Given the description of an element on the screen output the (x, y) to click on. 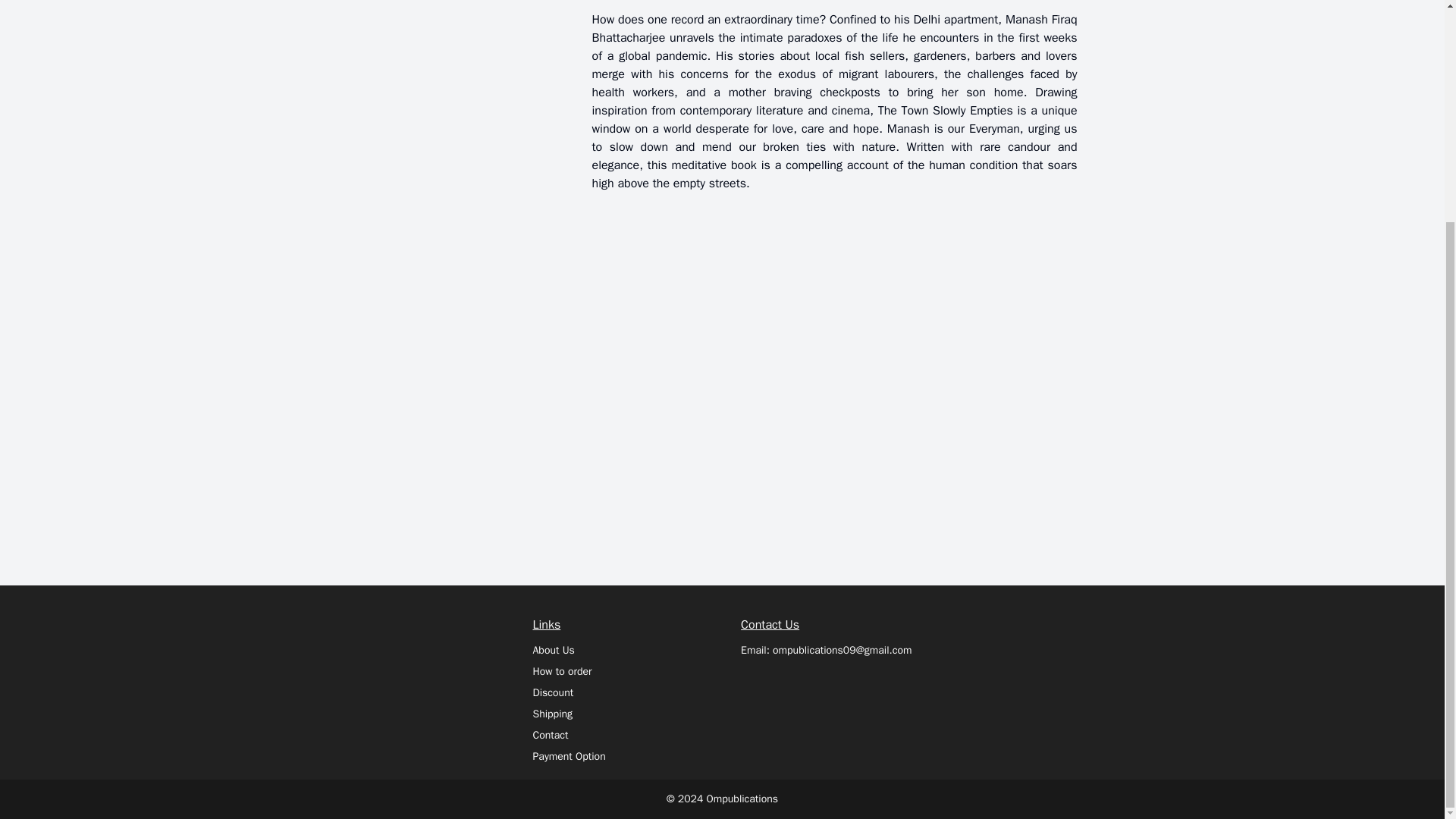
Payment Option (568, 756)
Contact (549, 735)
How to order (561, 671)
Discount (552, 692)
About Us (552, 649)
Shipping (552, 713)
